Given the description of an element on the screen output the (x, y) to click on. 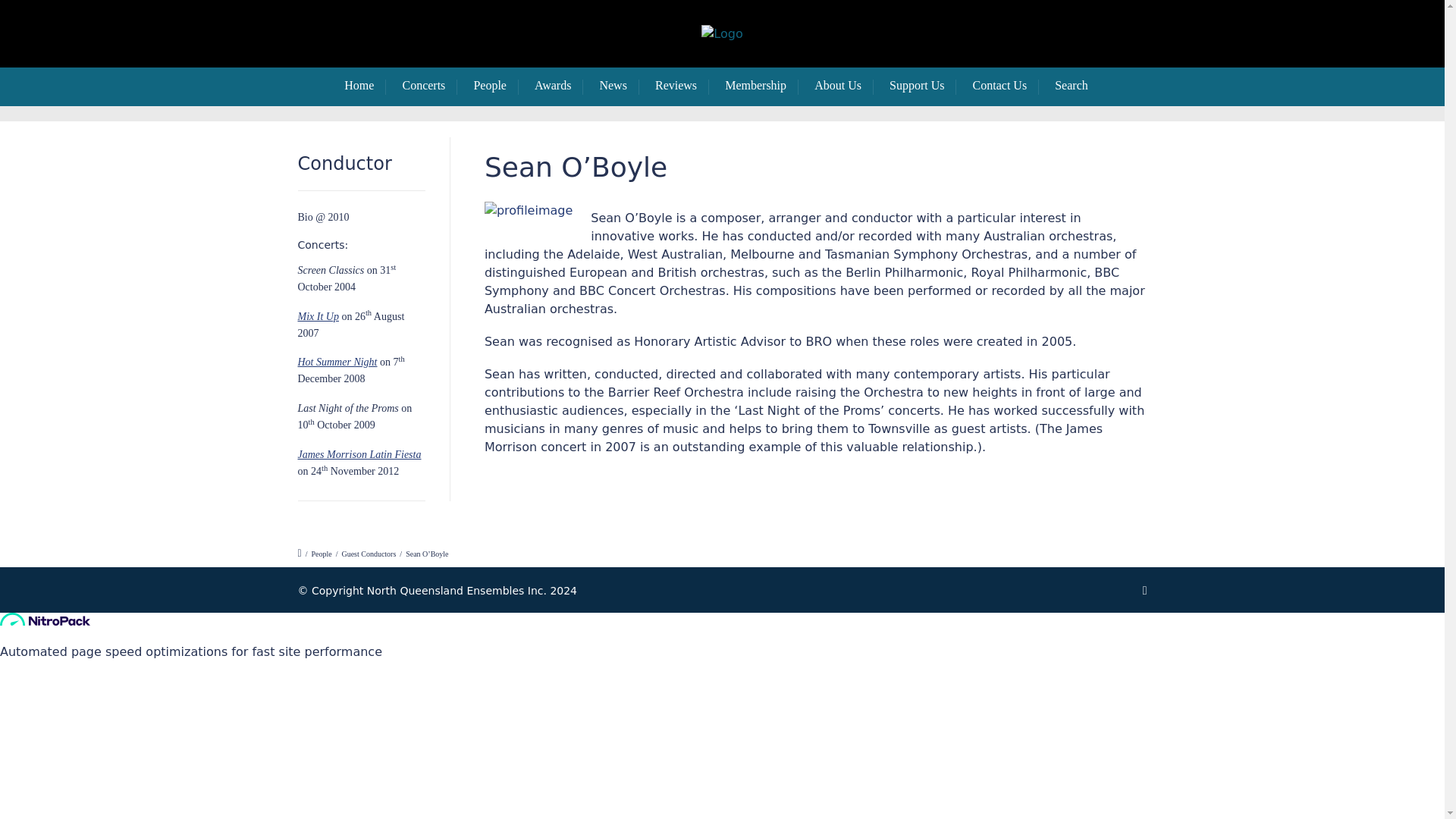
Reviews (682, 85)
People (321, 553)
Hot Summer Night (337, 361)
People (495, 85)
Concerts (429, 85)
Home (364, 85)
Membership (761, 85)
Search (1077, 85)
About Us (843, 85)
Mix It Up (317, 316)
